Given the description of an element on the screen output the (x, y) to click on. 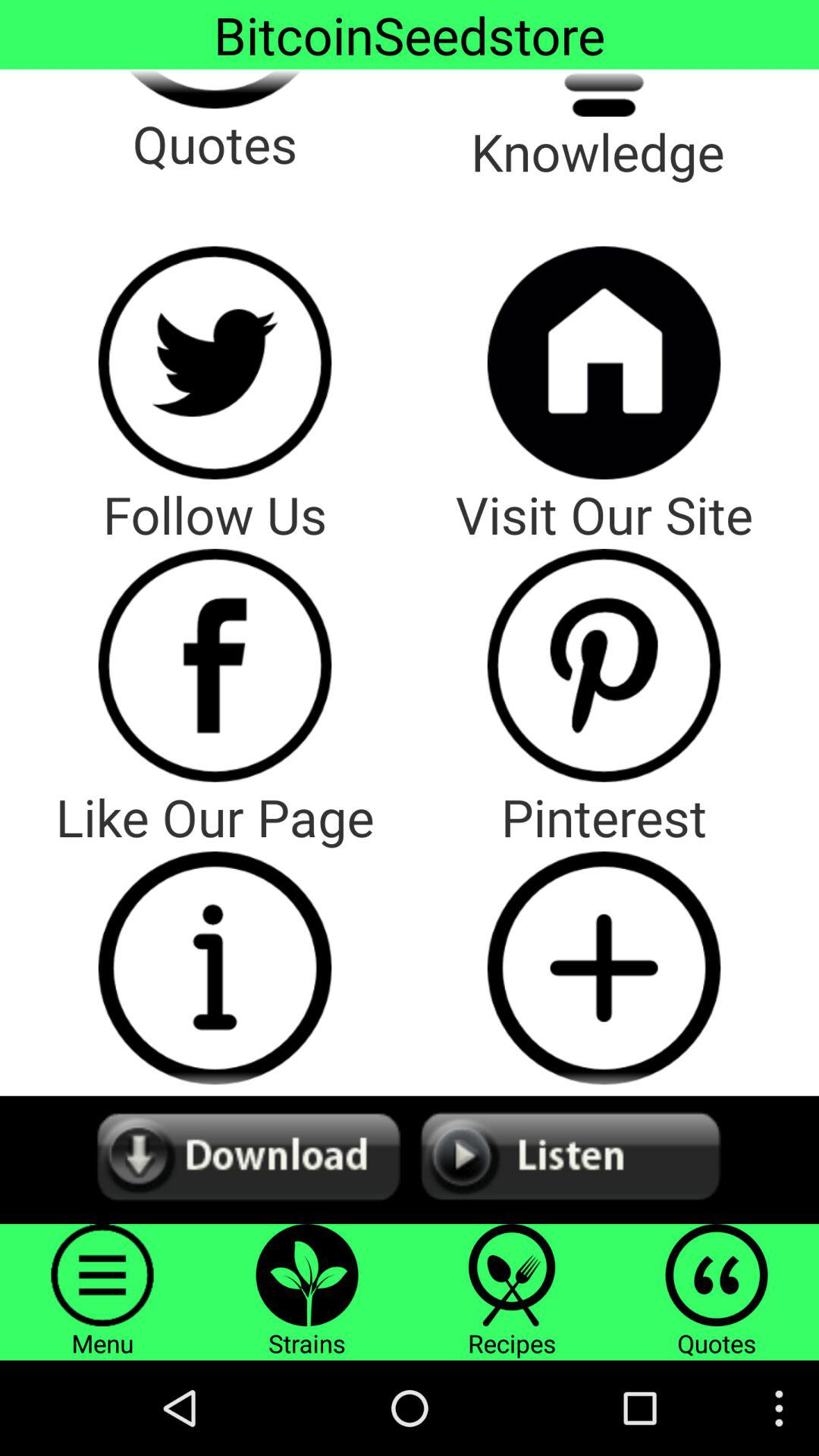
left button download right button listen (409, 1159)
